Given the description of an element on the screen output the (x, y) to click on. 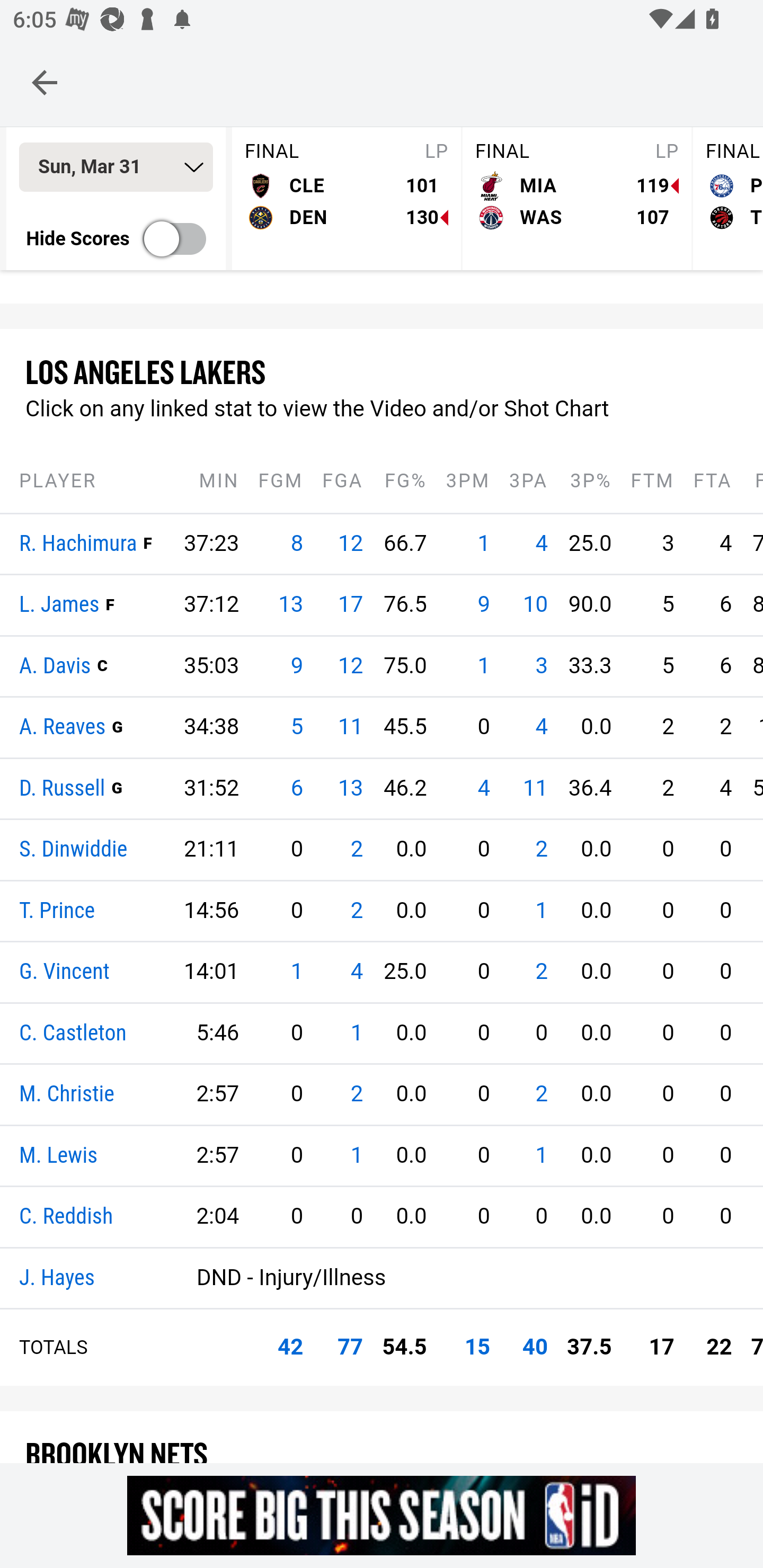
Navigate up (44, 82)
Sun, Mar 31 (115, 166)
R. Hachimura R .  Hachimura (78, 543)
8 (296, 543)
12 (350, 543)
1 (483, 543)
4 (541, 543)
L. James L .  James (59, 605)
13 (290, 604)
17 (350, 604)
9 (483, 604)
10 (534, 604)
A. Davis A .  Davis (55, 666)
9 (296, 666)
12 (350, 666)
1 (483, 666)
3 (541, 666)
A. Reaves A .  Reaves (62, 727)
5 (296, 726)
11 (350, 726)
4 (541, 726)
D. Russell D .  Russell (62, 788)
6 (296, 788)
13 (350, 788)
4 (483, 788)
11 (534, 788)
S. Dinwiddie S .  Dinwiddie (73, 849)
2 (356, 848)
2 (541, 848)
T. Prince T .  Prince (57, 910)
2 (356, 910)
1 (541, 910)
G. Vincent G .  Vincent (64, 972)
1 (296, 971)
4 (356, 971)
2 (541, 971)
C. Castleton C .  Castleton (73, 1033)
1 (356, 1033)
M. Christie M .  Christie (66, 1094)
2 (356, 1093)
2 (541, 1093)
M. Lewis M .  Lewis (58, 1155)
1 (356, 1155)
1 (541, 1155)
C. Reddish C .  Reddish (66, 1216)
J. Hayes J .  Hayes (57, 1277)
42 (289, 1346)
77 (350, 1346)
15 (477, 1346)
40 (534, 1346)
g5nqqygr7owph (381, 1515)
